Given the description of an element on the screen output the (x, y) to click on. 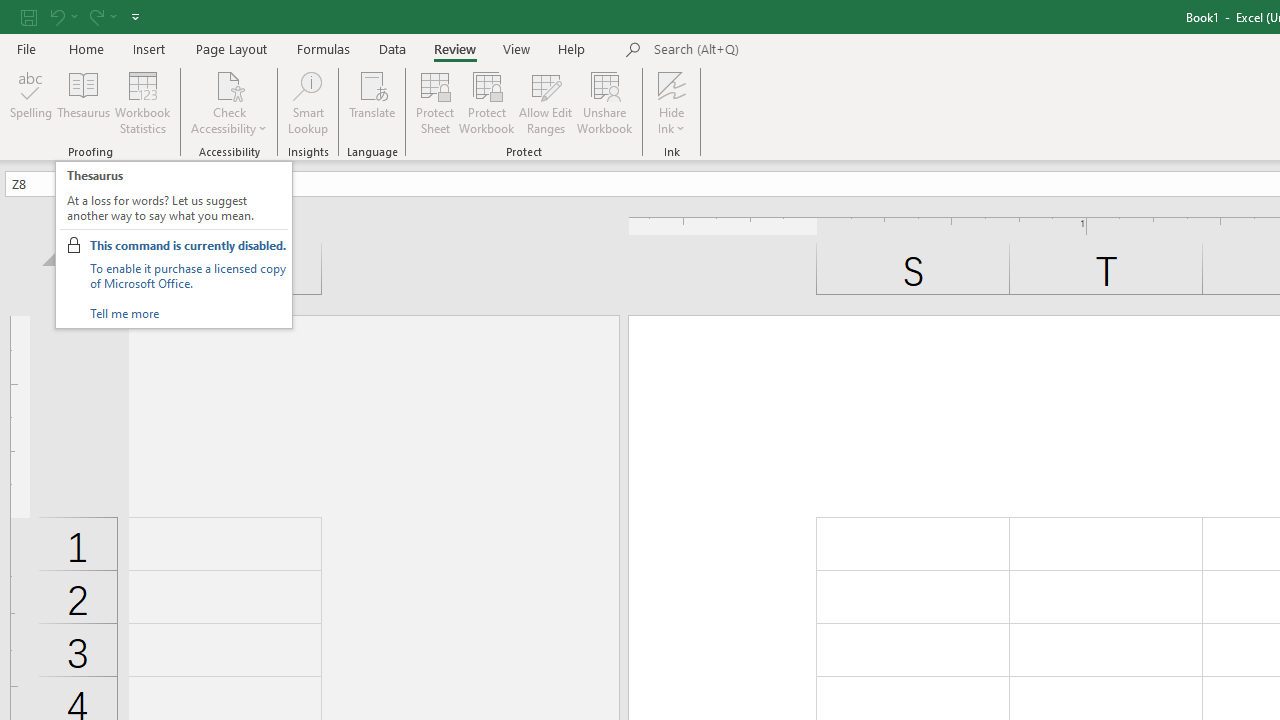
Protect Sheet... (434, 102)
This command is currently disabled. (188, 245)
